Given the description of an element on the screen output the (x, y) to click on. 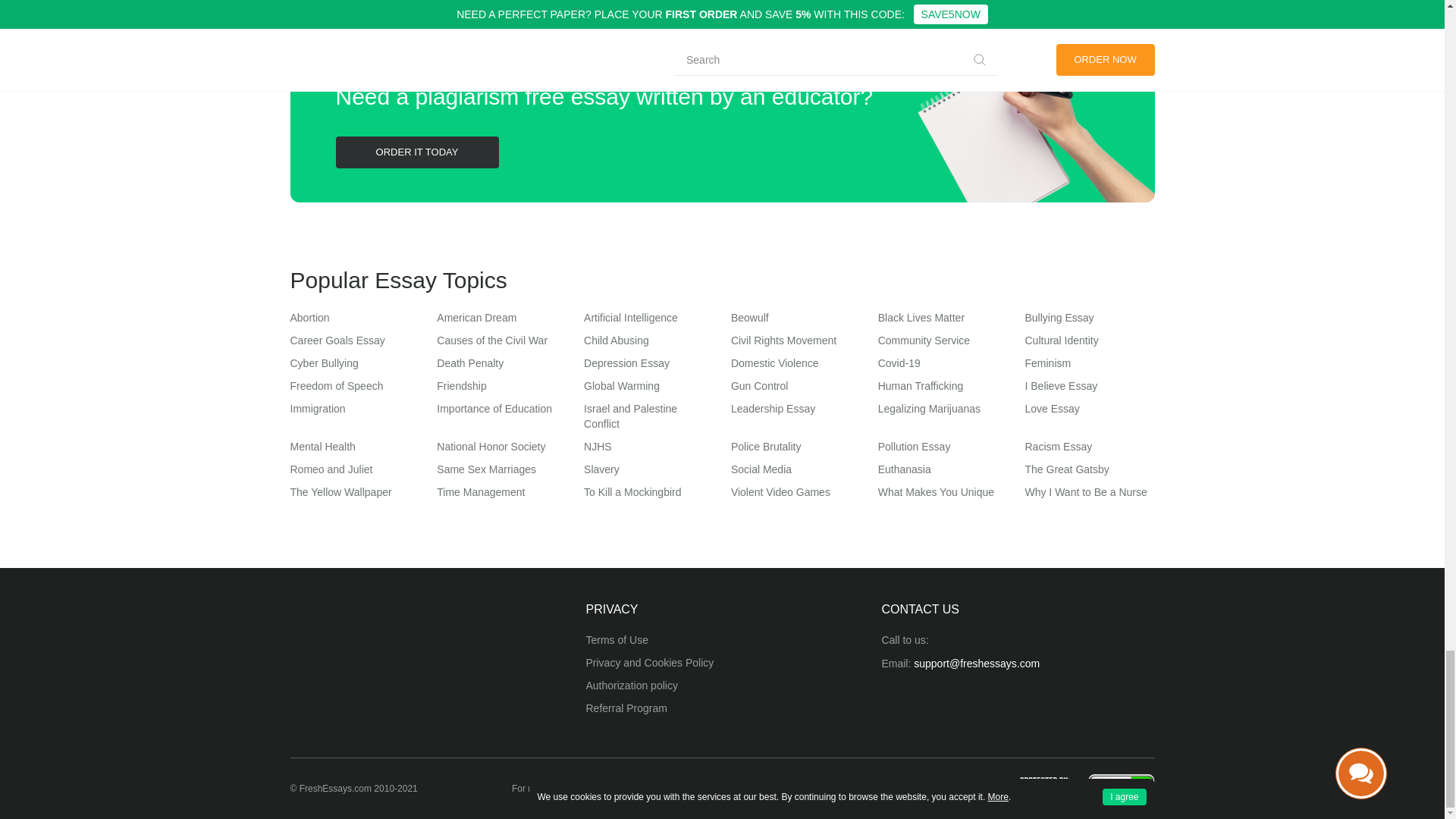
DMCA.com Protection Program (1039, 787)
